Given the description of an element on the screen output the (x, y) to click on. 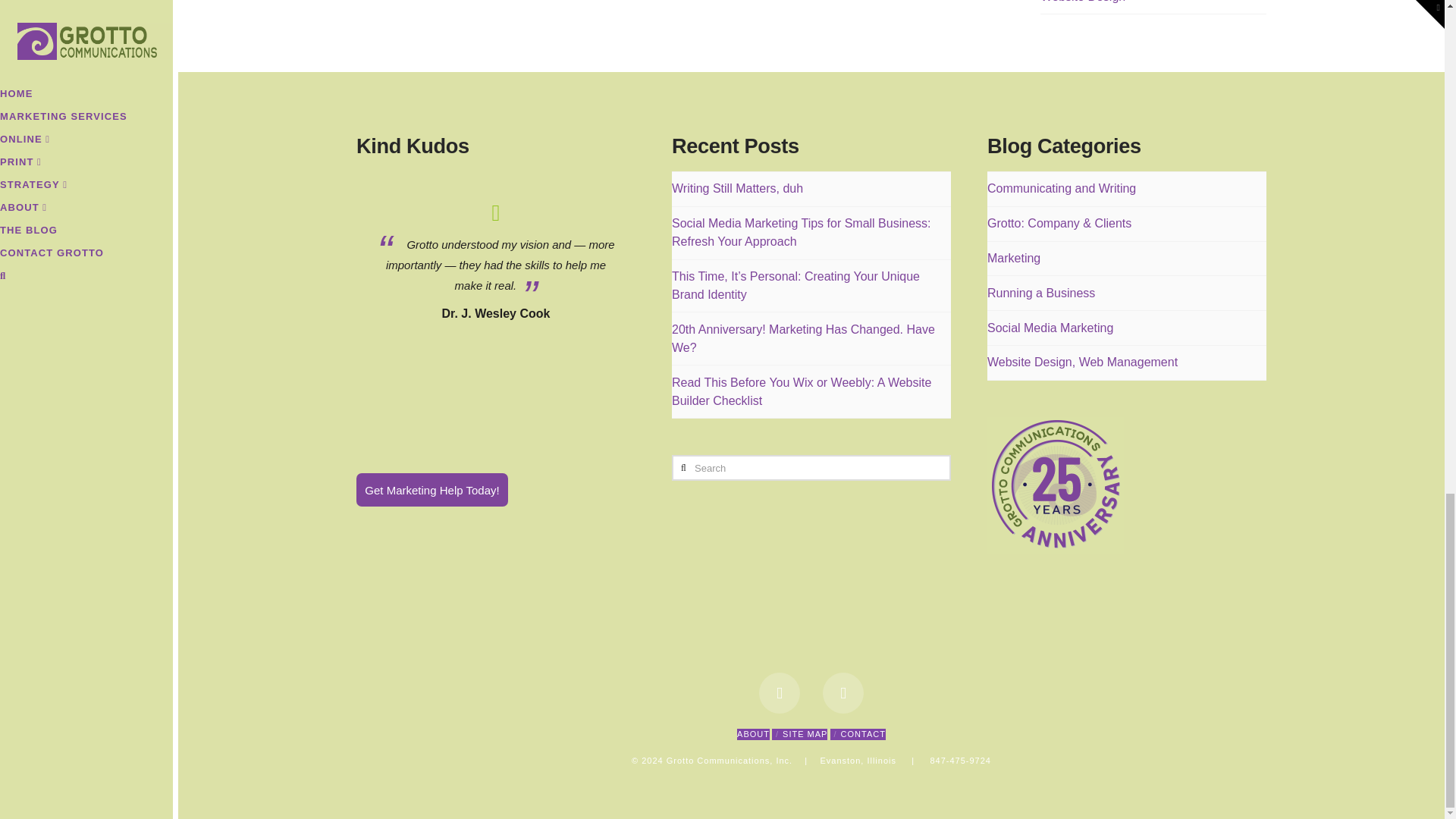
Facebook (778, 692)
LinkedIn (842, 692)
